Given the description of an element on the screen output the (x, y) to click on. 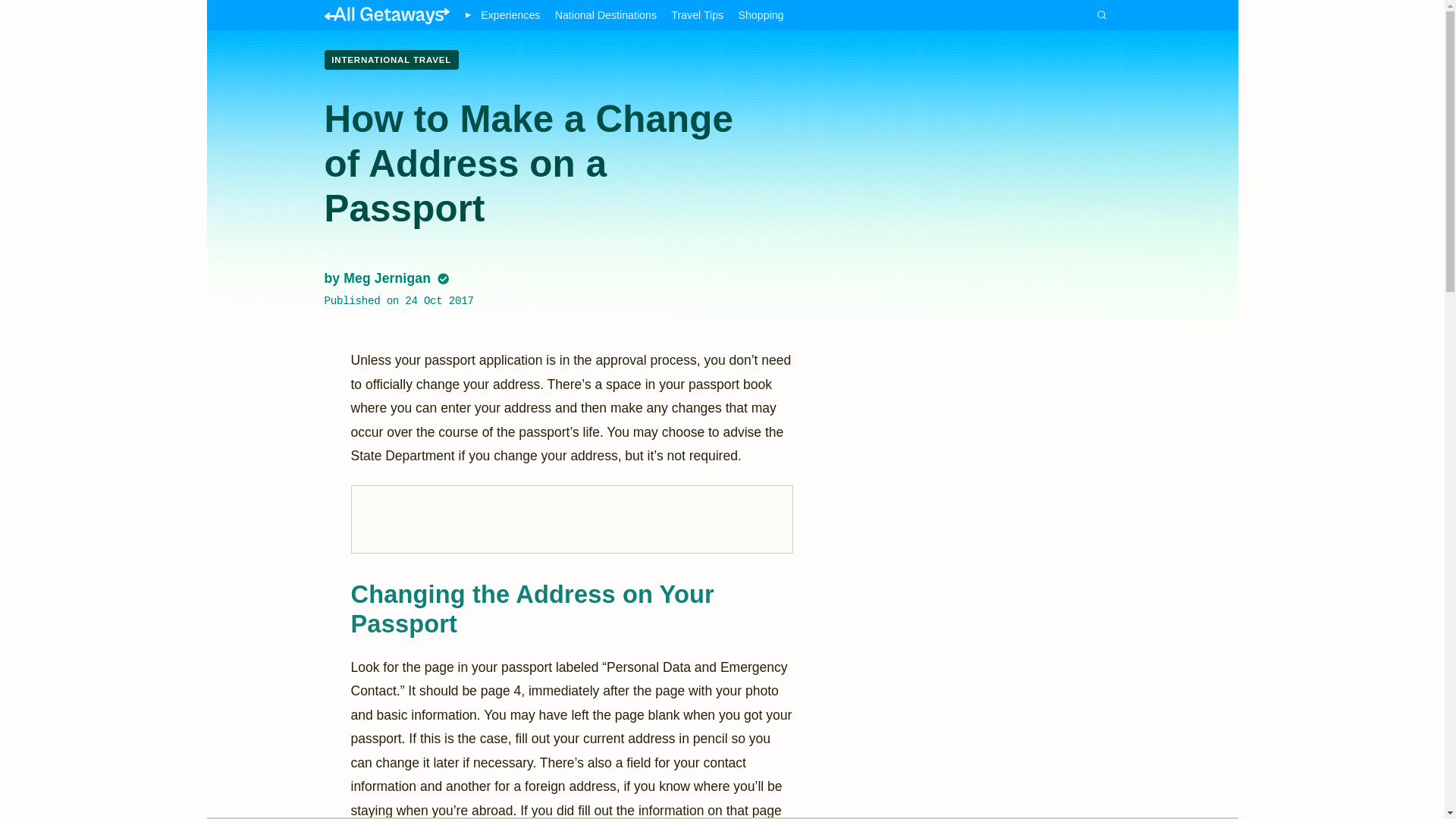
National Destinations (605, 15)
Travel Tips (697, 15)
Experiences (510, 15)
